Given the description of an element on the screen output the (x, y) to click on. 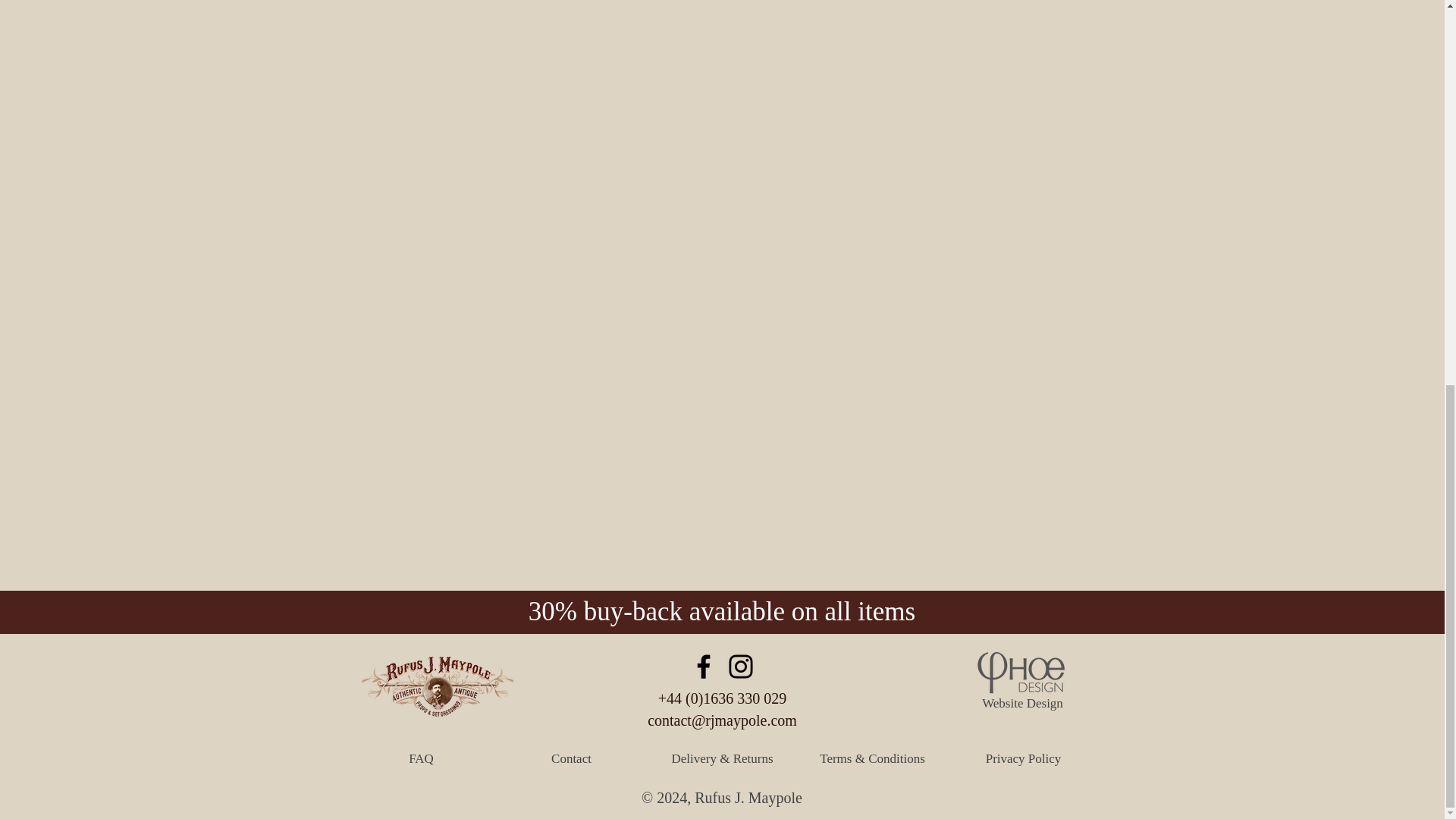
FAQ (420, 758)
Contact (570, 758)
Privacy Policy (1023, 758)
